Given the description of an element on the screen output the (x, y) to click on. 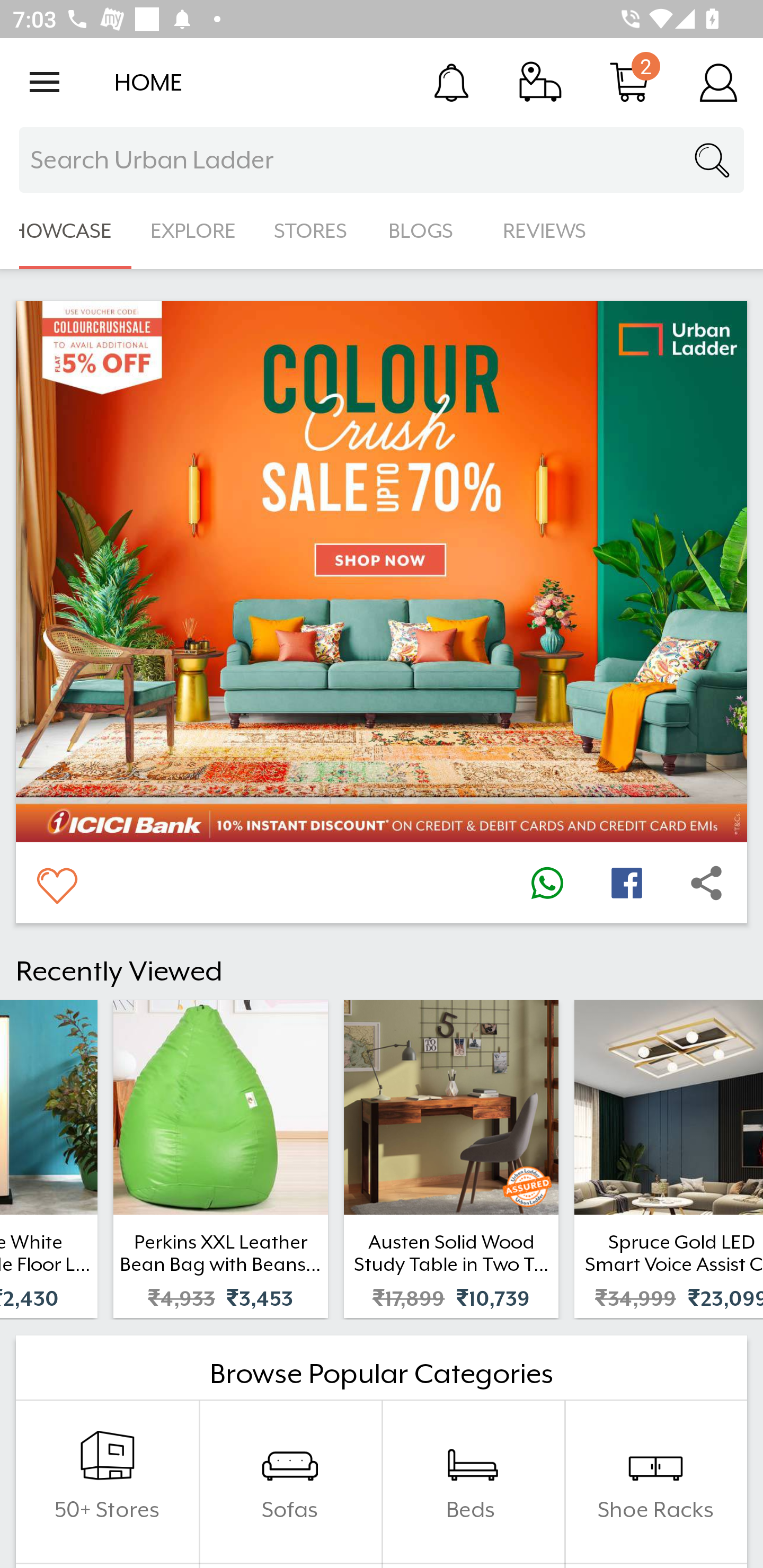
Open navigation drawer (44, 82)
Notification (450, 81)
Track Order (540, 81)
Cart (629, 81)
Account Details (718, 81)
Search Urban Ladder  (381, 159)
SHOWCASE (65, 230)
EXPLORE (192, 230)
STORES (311, 230)
BLOGS (426, 230)
REVIEWS (544, 230)
 (55, 882)
 (547, 882)
 (626, 882)
 (706, 882)
50+ Stores (106, 1481)
Sofas (289, 1481)
Beds  (473, 1481)
Shoe Racks (655, 1481)
